Given the description of an element on the screen output the (x, y) to click on. 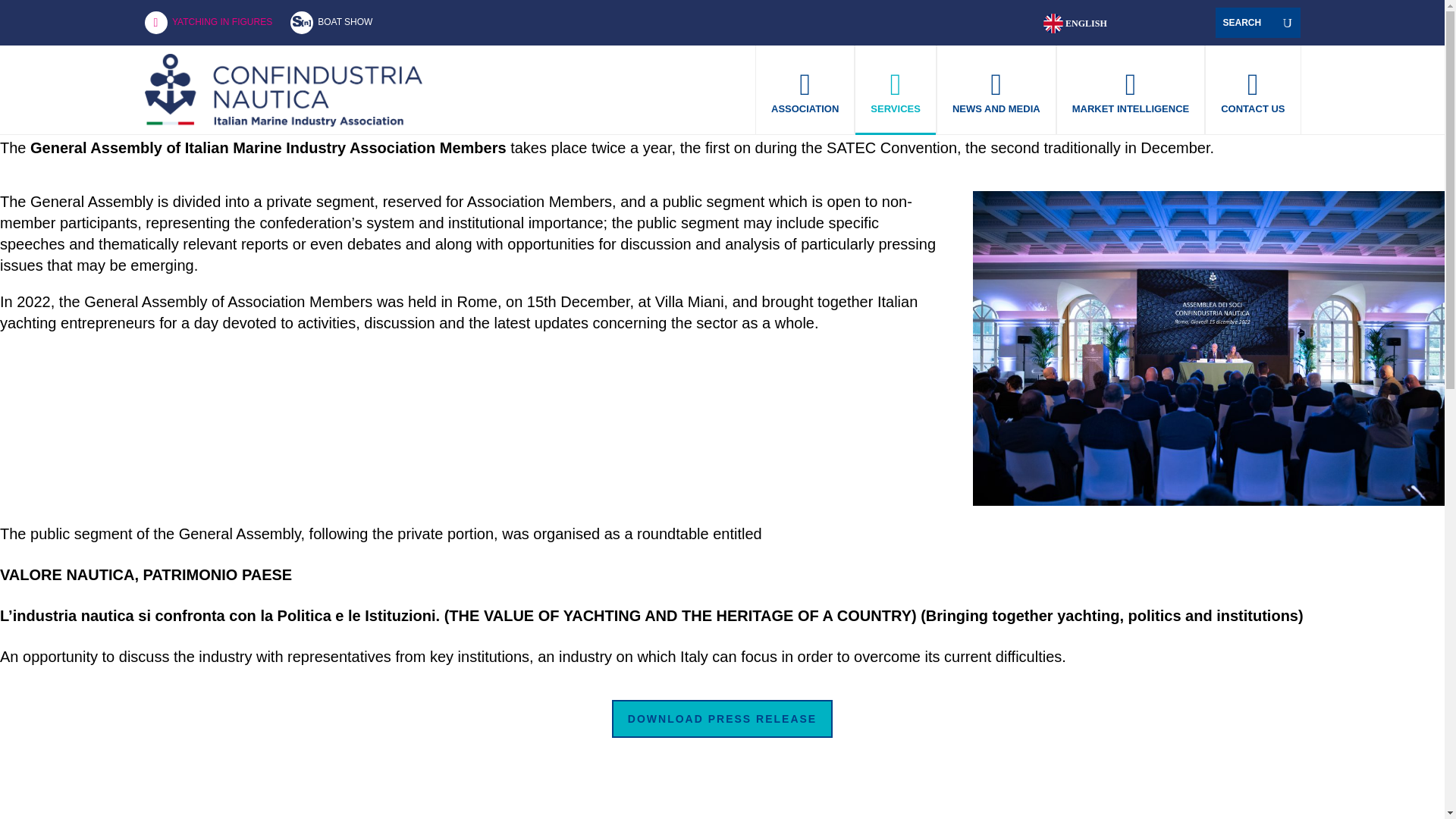
MARKET INTELLIGENCE (1131, 90)
English (1077, 23)
NEWS AND MEDIA (996, 90)
ENGLISH (1077, 23)
  BOAT SHOW (342, 22)
  YATCHING IN FIGURES        (228, 22)
SERVICES (896, 90)
SEARCH (1241, 25)
ASSOCIATION (804, 90)
CONTACT US (1252, 90)
